Given the description of an element on the screen output the (x, y) to click on. 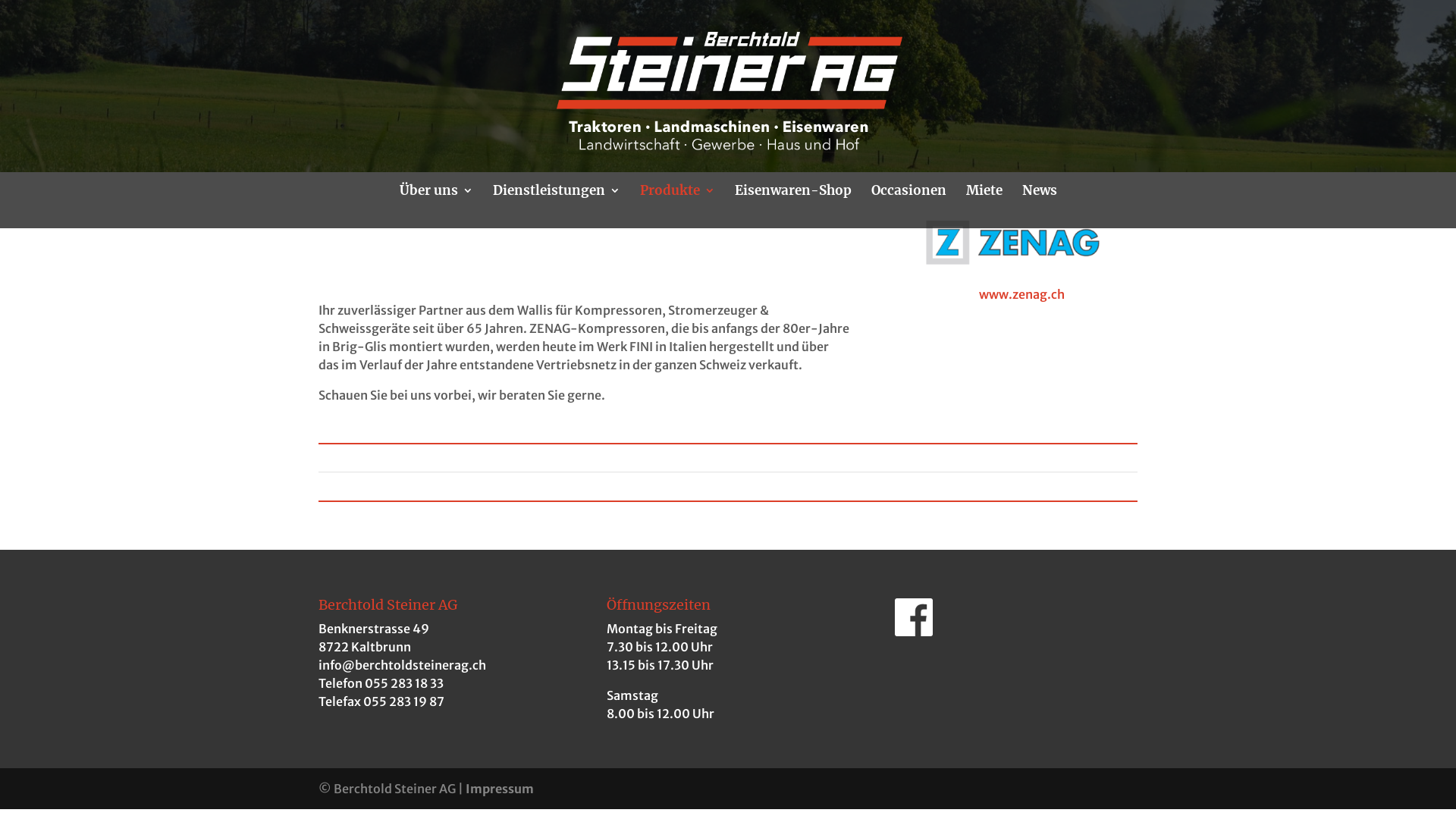
zenag-logo-300x76 Element type: hover (1039, 249)
Miete Element type: text (984, 206)
Occasionen Element type: text (907, 206)
info@berchtoldsteinerag.ch Element type: text (402, 664)
Impressum Element type: text (499, 788)
News Element type: text (1039, 206)
Dienstleistungen Element type: text (556, 206)
Eisenwaren-Shop Element type: text (792, 206)
Produkte Element type: text (677, 206)
